Given the description of an element on the screen output the (x, y) to click on. 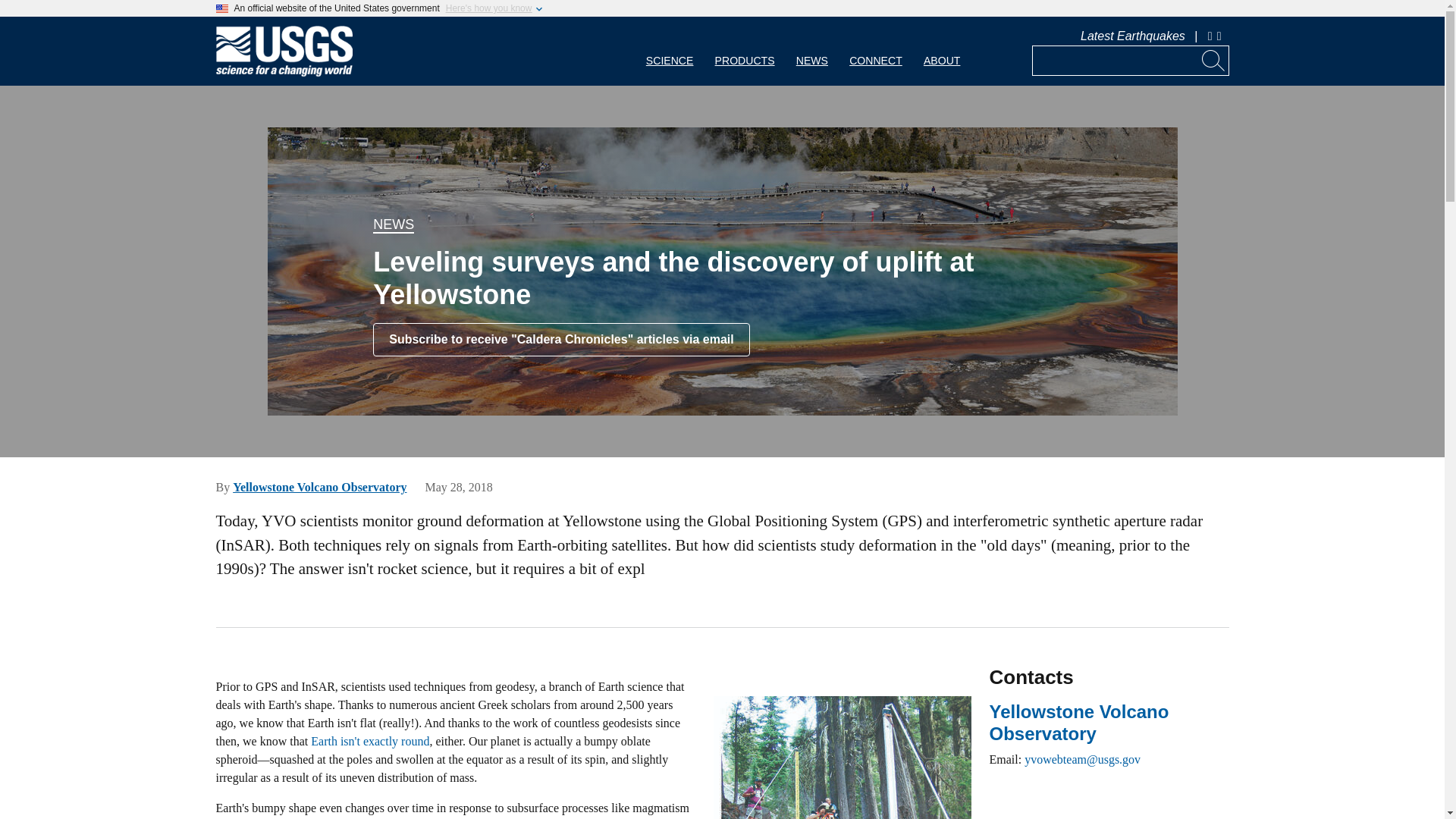
NEWS (392, 225)
Share Social Media (1220, 36)
ABOUT (941, 50)
Here's how you know (488, 8)
Subscribe to receive "Caldera Chronicles" articles via email (560, 339)
CONNECT (875, 50)
NEWS (812, 50)
SCIENCE (669, 50)
Yellowstone Volcano Observatory (319, 486)
PRODUCTS (745, 50)
Latest Earthquakes (1132, 35)
Home (283, 72)
